Given the description of an element on the screen output the (x, y) to click on. 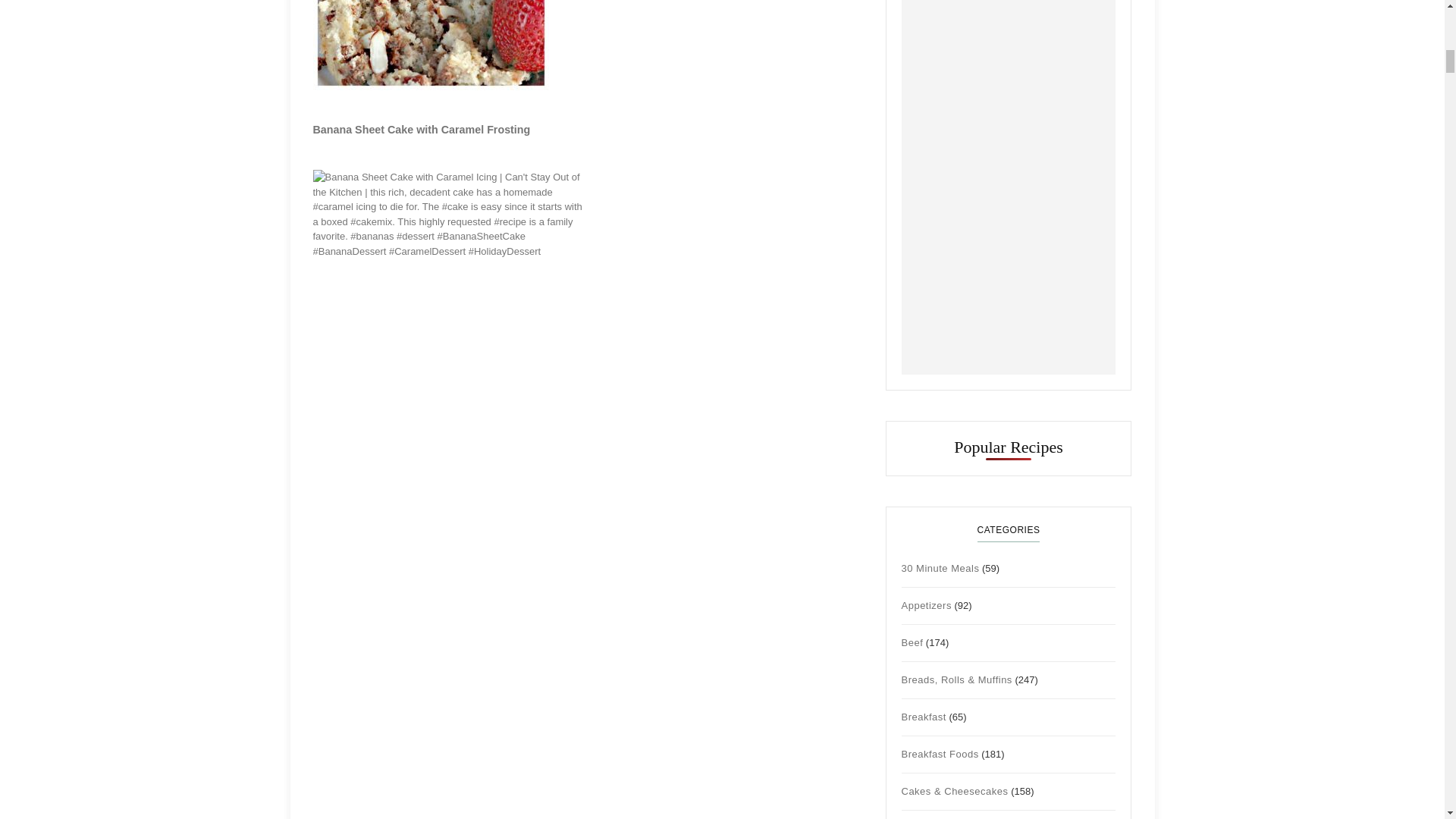
Banana Sheet Cake with Caramel Frosting (421, 129)
banana sheet cake with caramel frosting (421, 129)
